Given the description of an element on the screen output the (x, y) to click on. 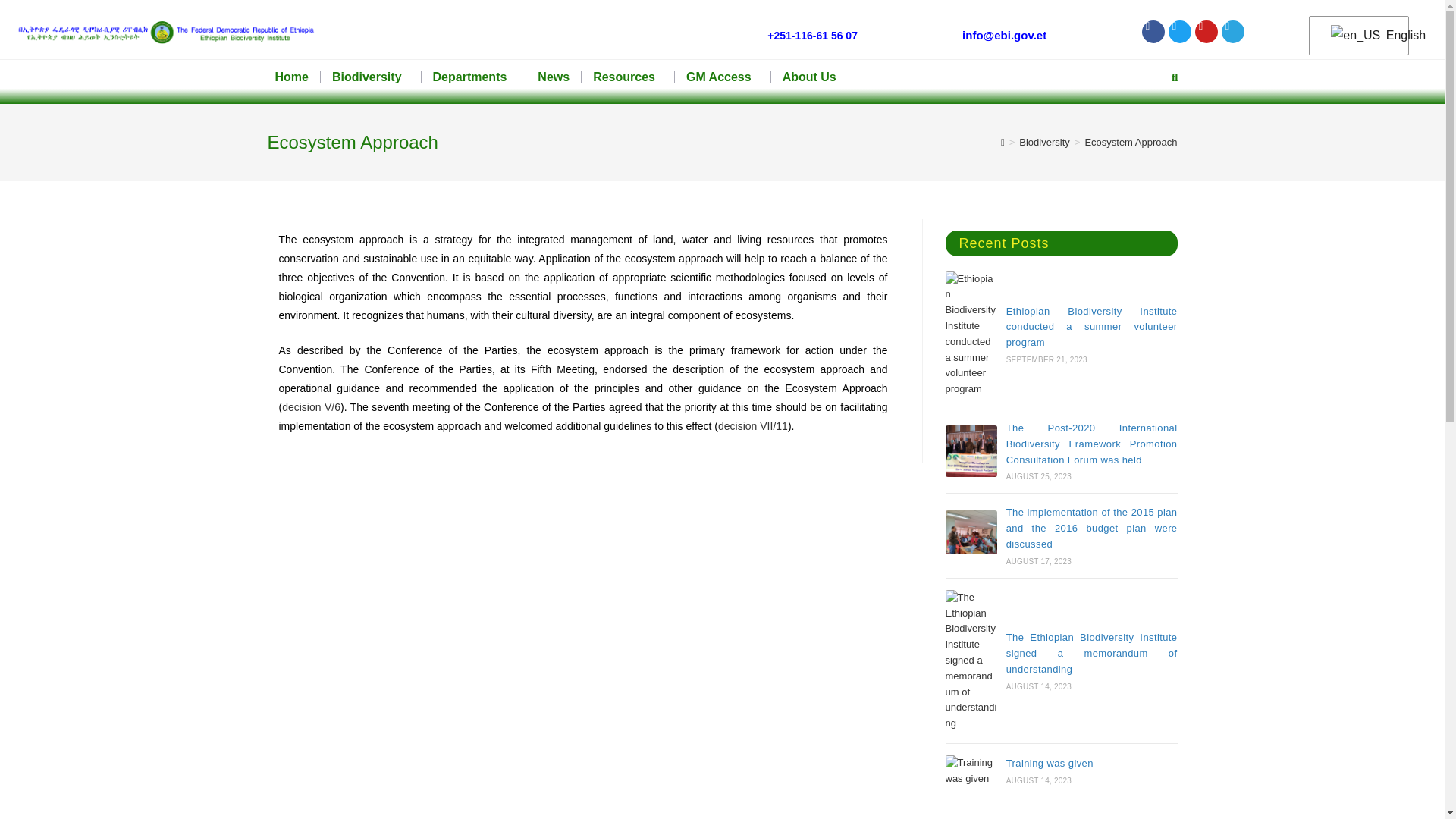
Training was given (969, 771)
Biodiversity (371, 77)
Home (291, 77)
English (1356, 35)
English (1355, 35)
English (1356, 35)
